Given the description of an element on the screen output the (x, y) to click on. 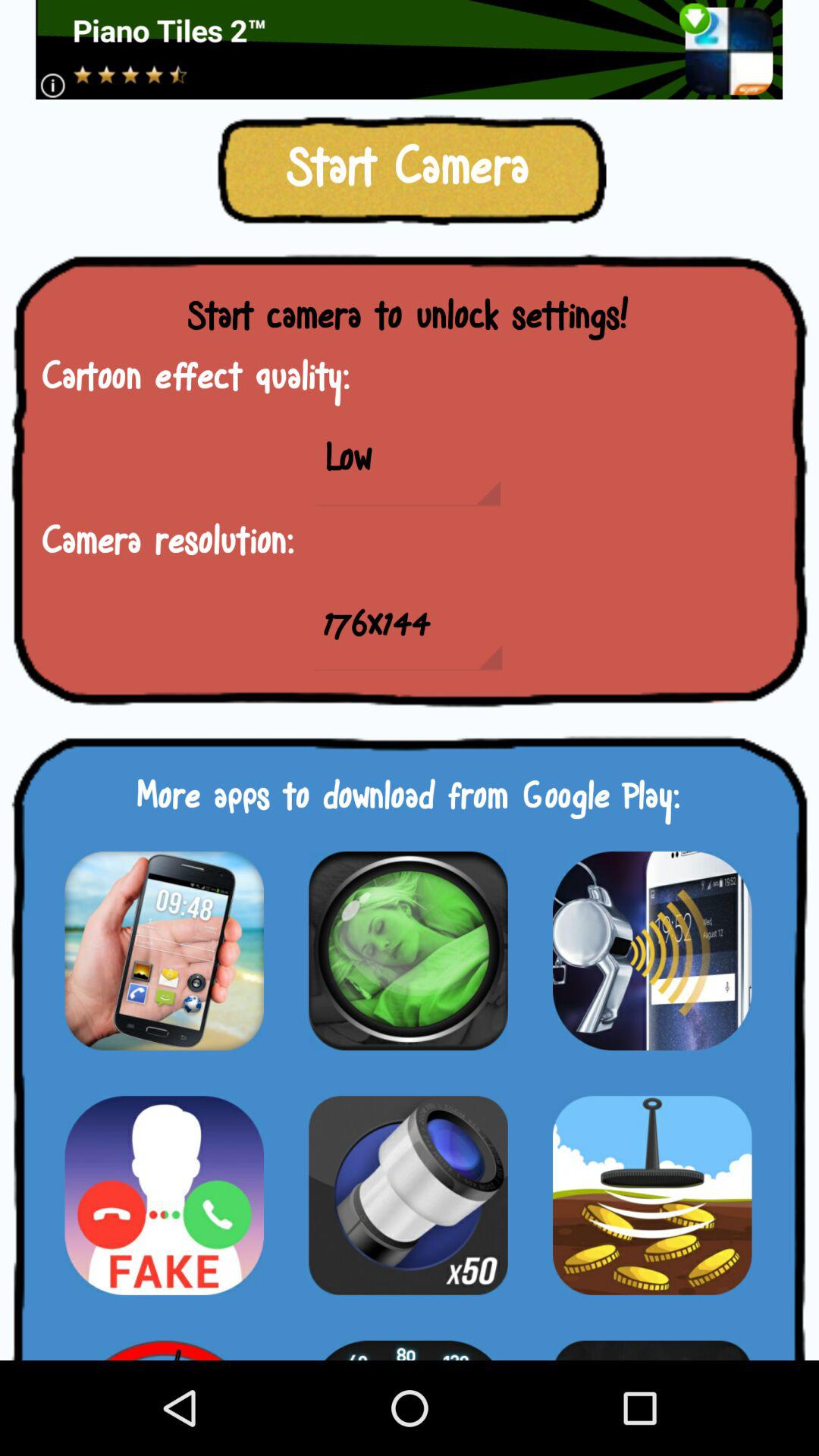
download a new app (408, 950)
